Given the description of an element on the screen output the (x, y) to click on. 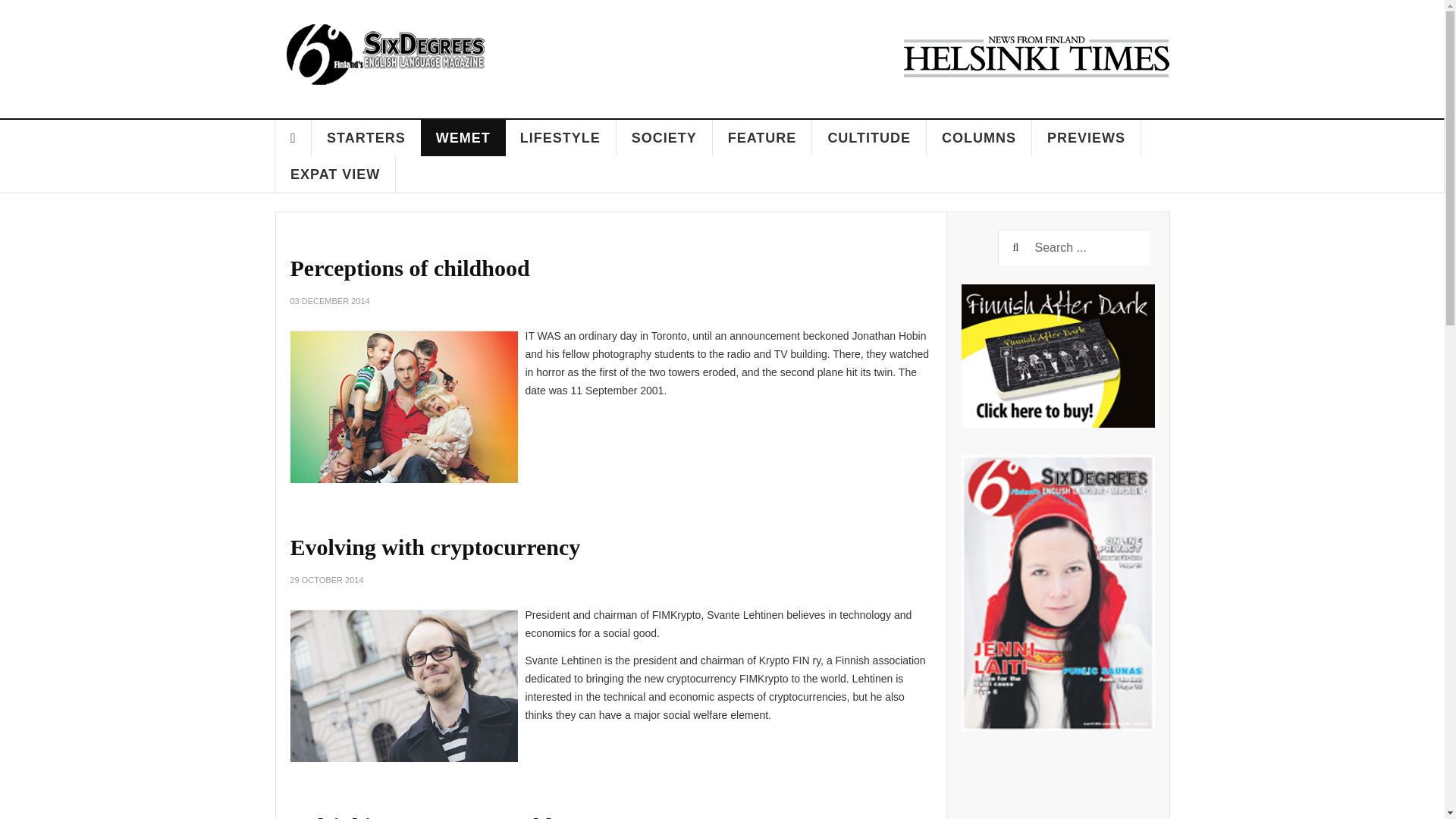
SOCIETY (664, 137)
HOME (293, 137)
STARTERS (366, 137)
Evolving with cryptocurrency  (434, 546)
Evolving with cryptocurrency (434, 546)
FEATURE (762, 137)
Helsinki-Cotonou Ensemble (425, 816)
Search ... (1073, 247)
COLUMNS (979, 137)
Helsinki-Cotonou Ensemble (425, 816)
